Given the description of an element on the screen output the (x, y) to click on. 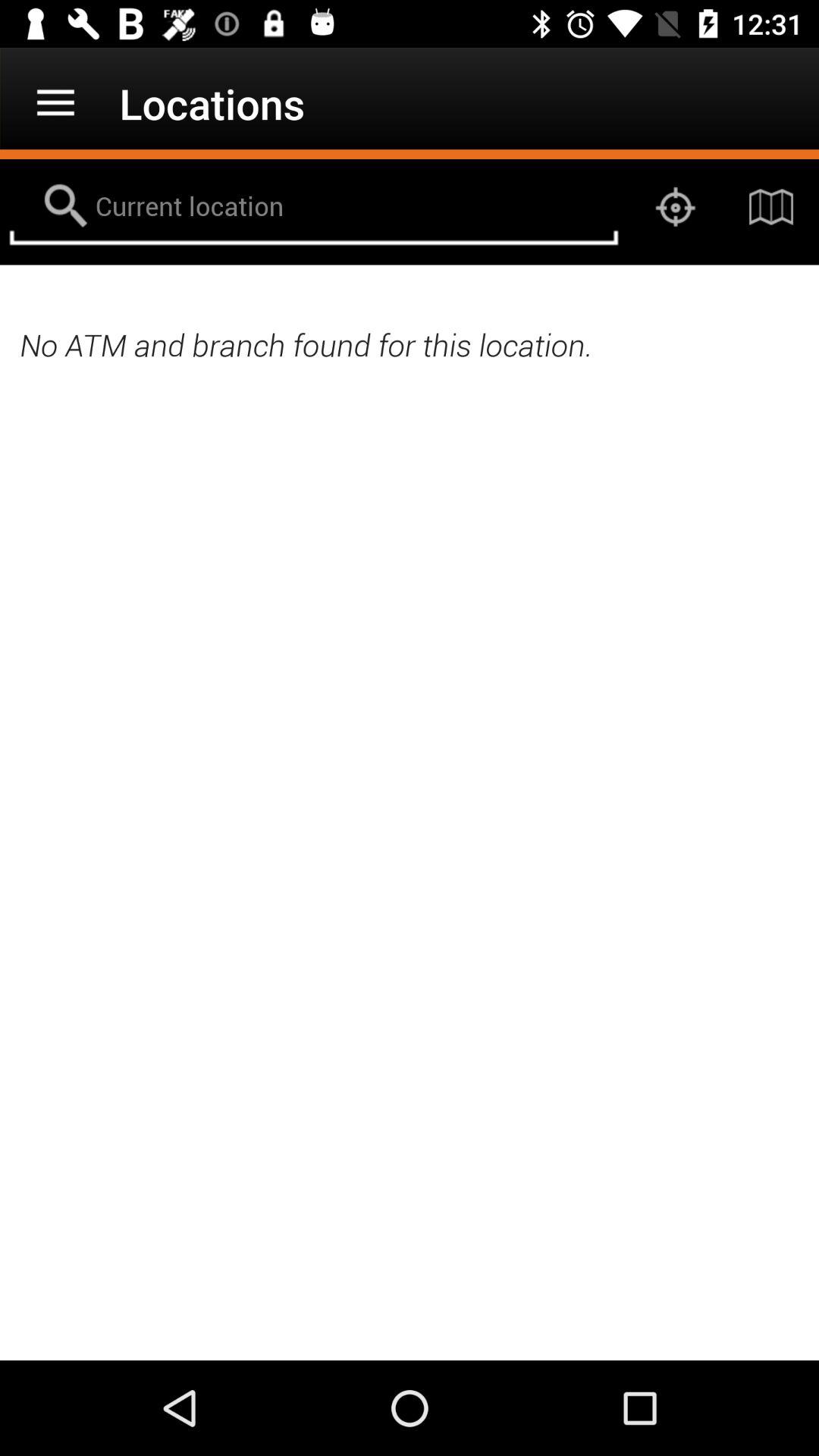
search location (313, 206)
